Given the description of an element on the screen output the (x, y) to click on. 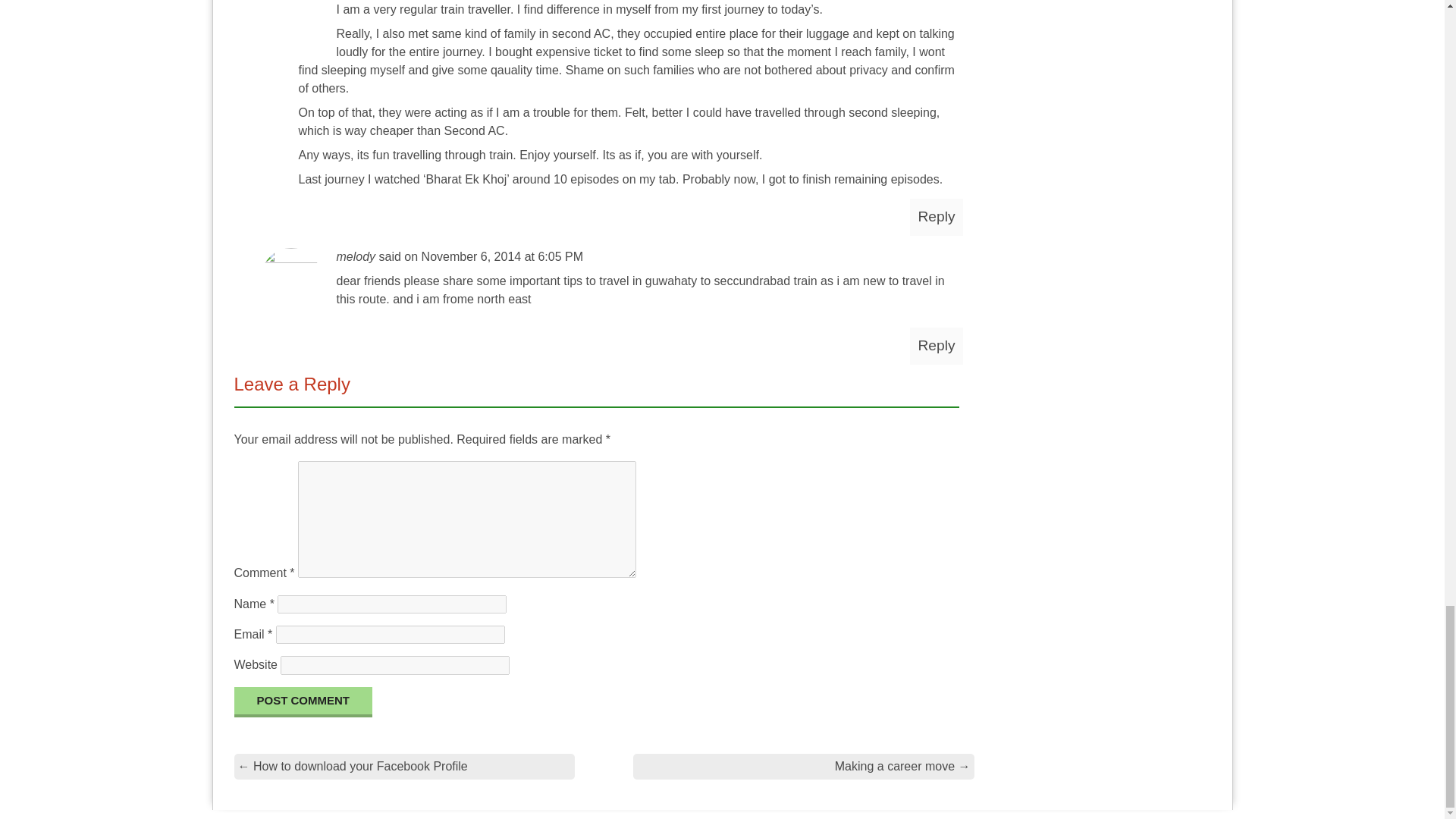
Post Comment (302, 702)
Reply (936, 345)
Post Comment (302, 702)
November 6, 2014 at 6:05 PM (502, 256)
Reply (936, 217)
